Given the description of an element on the screen output the (x, y) to click on. 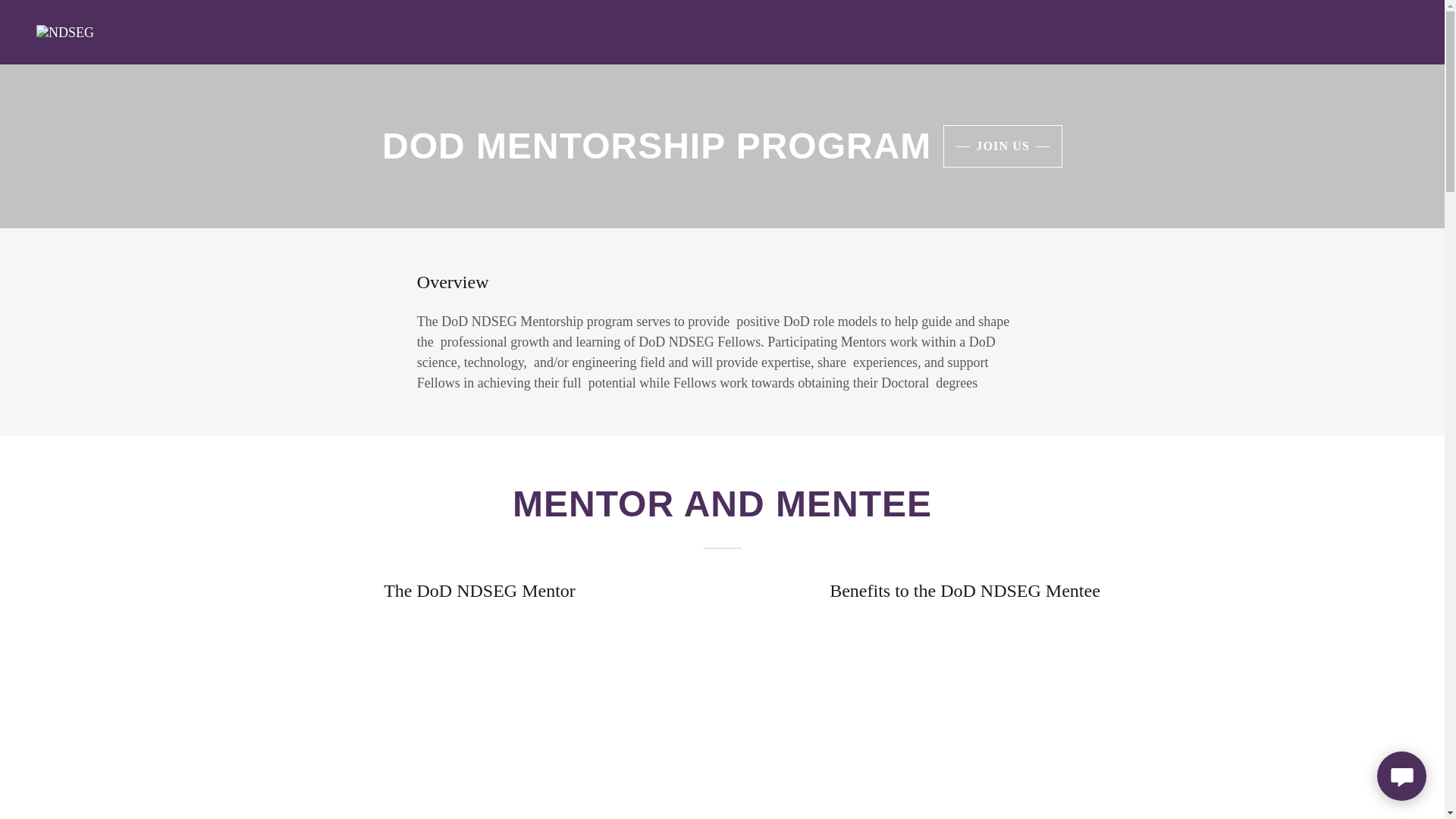
NDSEG (65, 30)
